Given the description of an element on the screen output the (x, y) to click on. 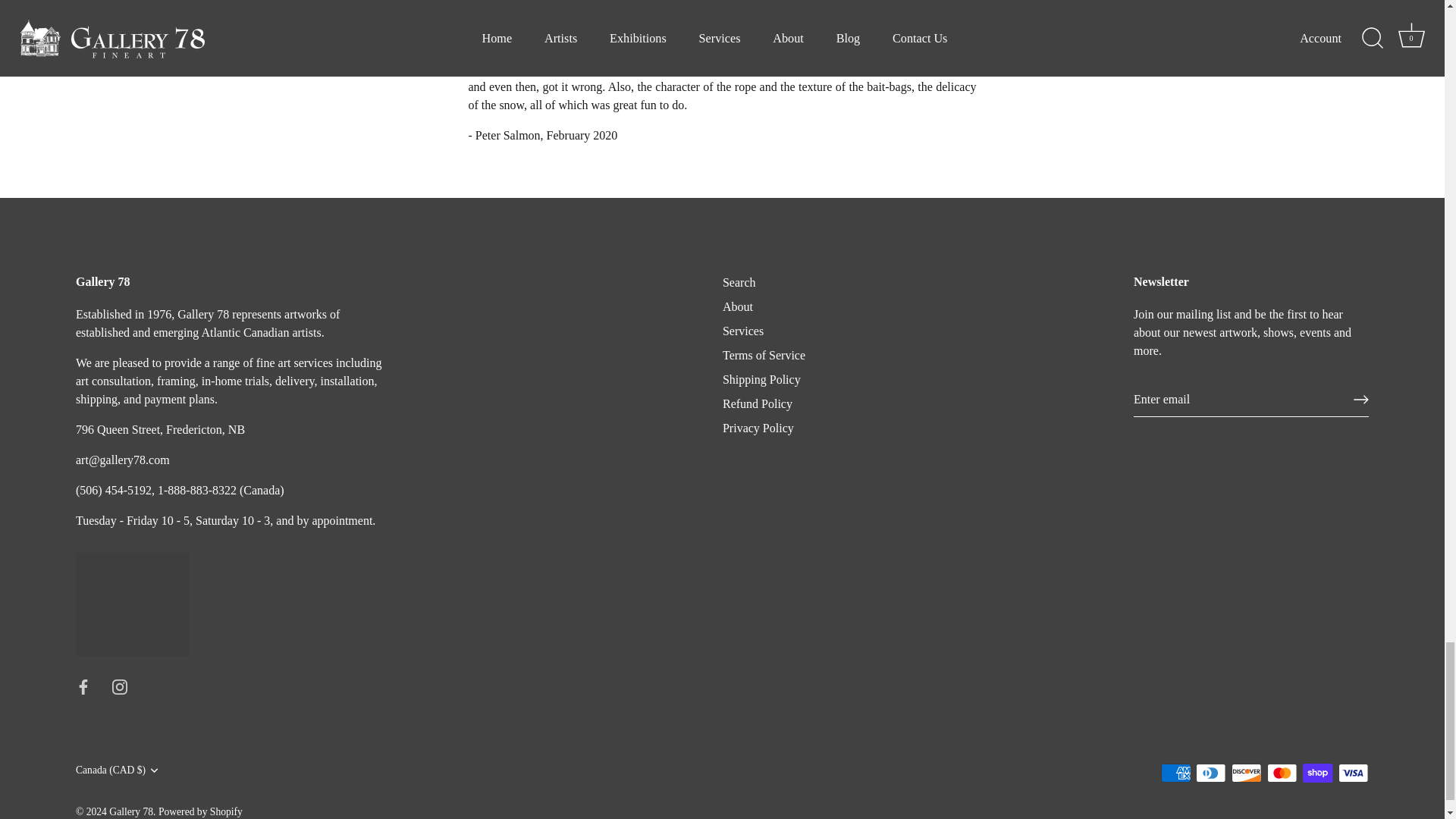
RIGHT ARROW LONG (1361, 399)
American Express (1174, 772)
Visa (1353, 772)
Mastercard (1281, 772)
Discover (1245, 772)
Shop Pay (1317, 772)
Instagram (120, 686)
Diners Club (1210, 772)
